Given the description of an element on the screen output the (x, y) to click on. 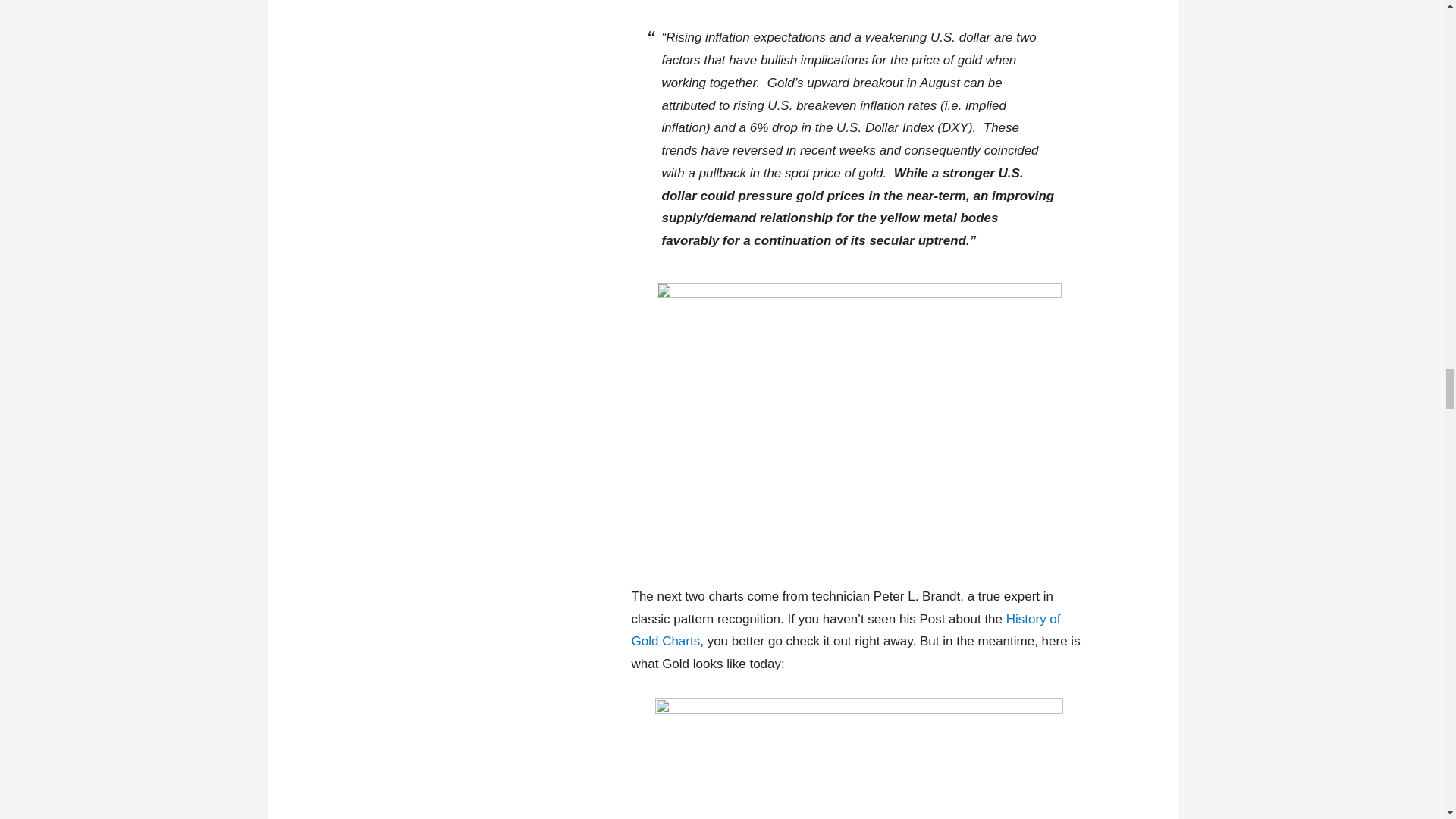
11-21-12 Gold Ari Wald (858, 422)
11-21-12 Gold Peter Brandt Present (858, 758)
